Given the description of an element on the screen output the (x, y) to click on. 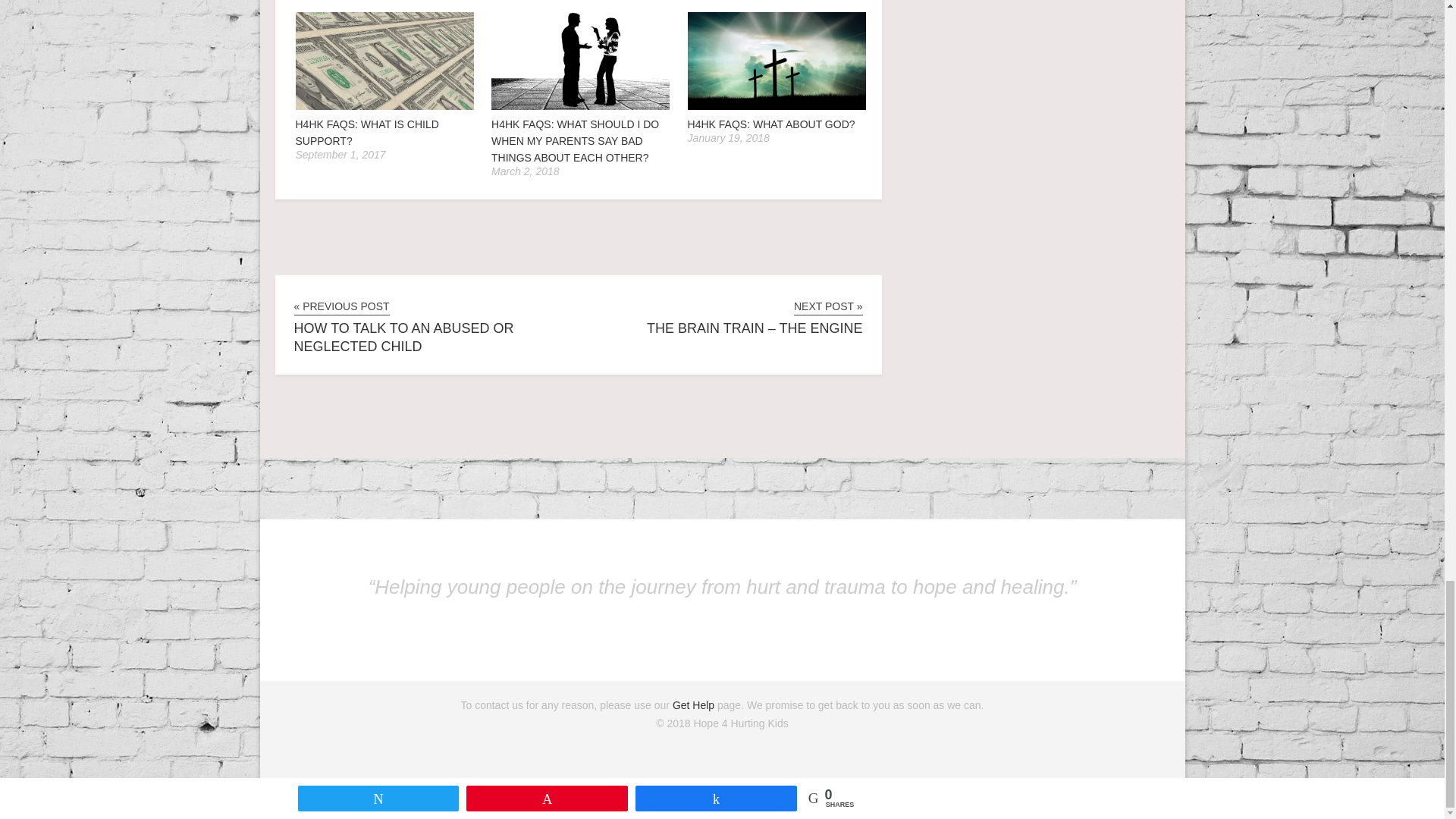
Permanent Link to H4HK FAQs: What About God? (771, 123)
Permanent Link to H4HK FAQs: What Is Child Support? (384, 106)
Permanent Link to H4HK FAQs: What About God? (776, 106)
Permanent Link to H4HK FAQs: What Is Child Support? (367, 132)
